Given the description of an element on the screen output the (x, y) to click on. 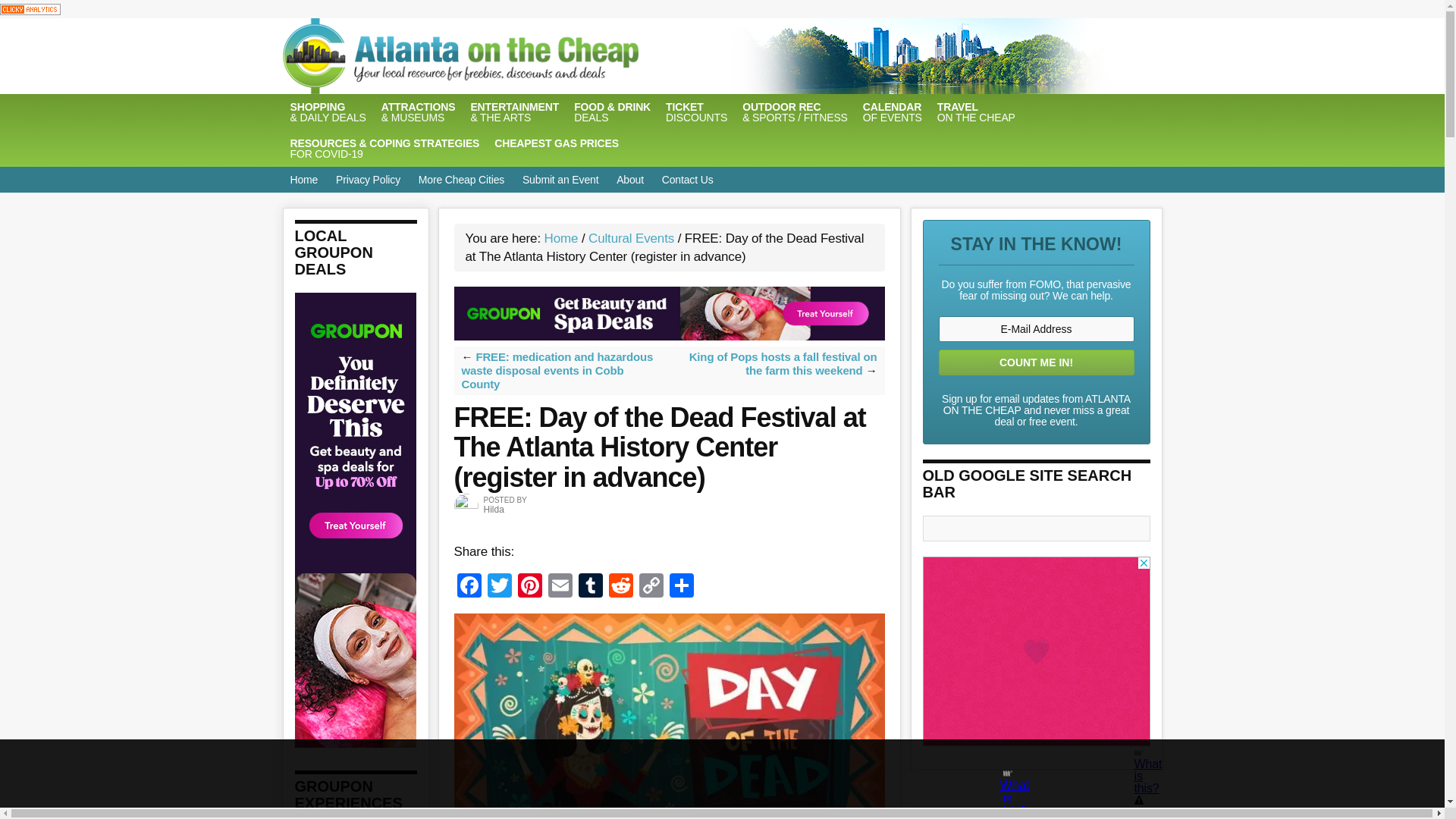
Facebook (467, 587)
CHEAPEST GAS PRICES (556, 143)
Twitter (498, 587)
Atlanta on the Cheap (536, 56)
Reddit (619, 587)
Email (976, 112)
Skip to primary navigation (559, 587)
Submit an Event (561, 237)
Cultural Events (560, 179)
Contact Us (631, 237)
GDPR-compliant Web Analytics (686, 179)
